Given the description of an element on the screen output the (x, y) to click on. 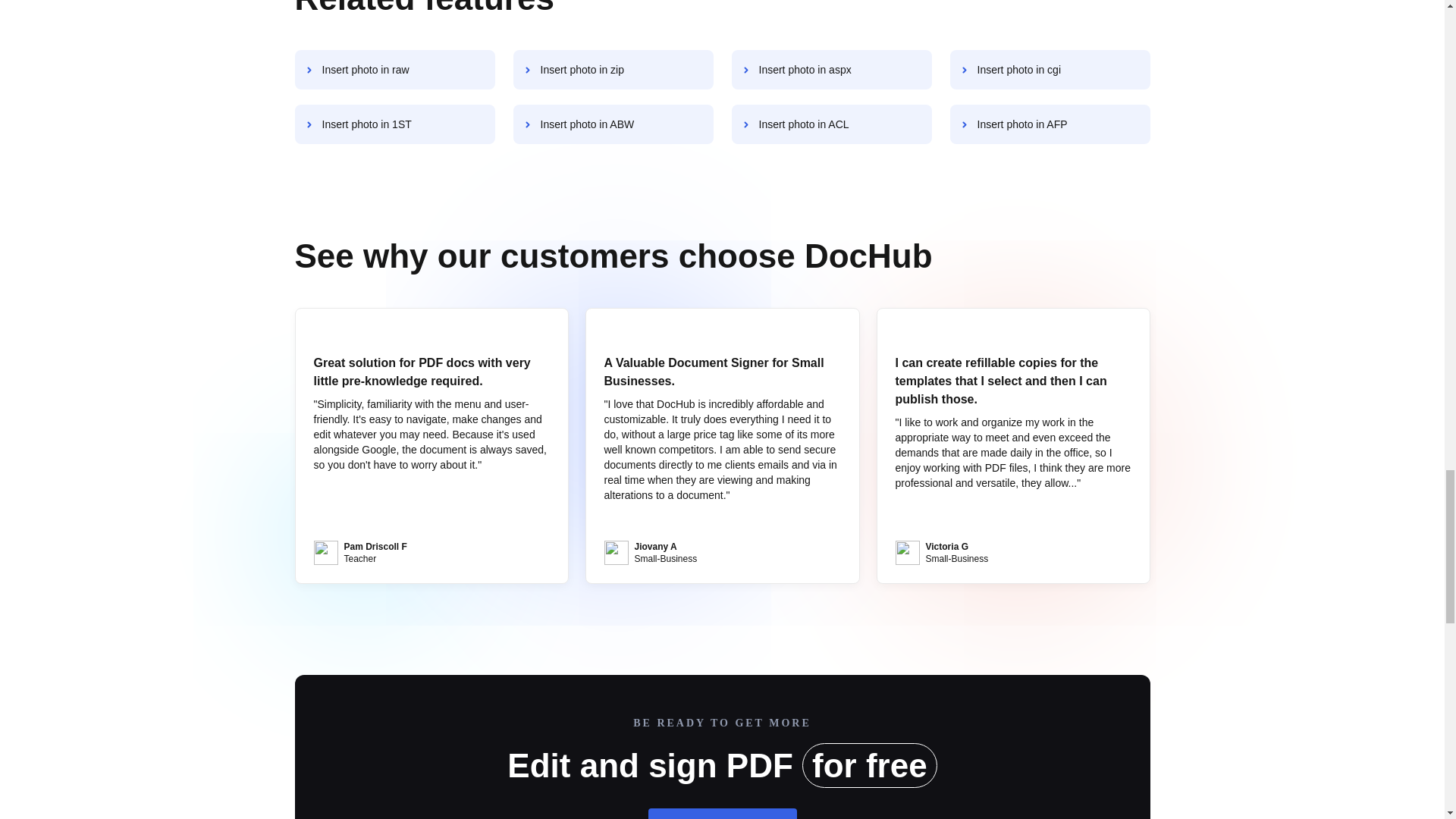
Insert photo in ACL (830, 124)
Insert photo in zip (612, 69)
Insert photo in AFP (1049, 124)
Insert photo in ABW (612, 124)
Insert photo in 1ST (394, 124)
Insert photo in raw (394, 69)
Insert photo in aspx (830, 69)
Insert photo in cgi (1049, 69)
Get started now (721, 813)
